Given the description of an element on the screen output the (x, y) to click on. 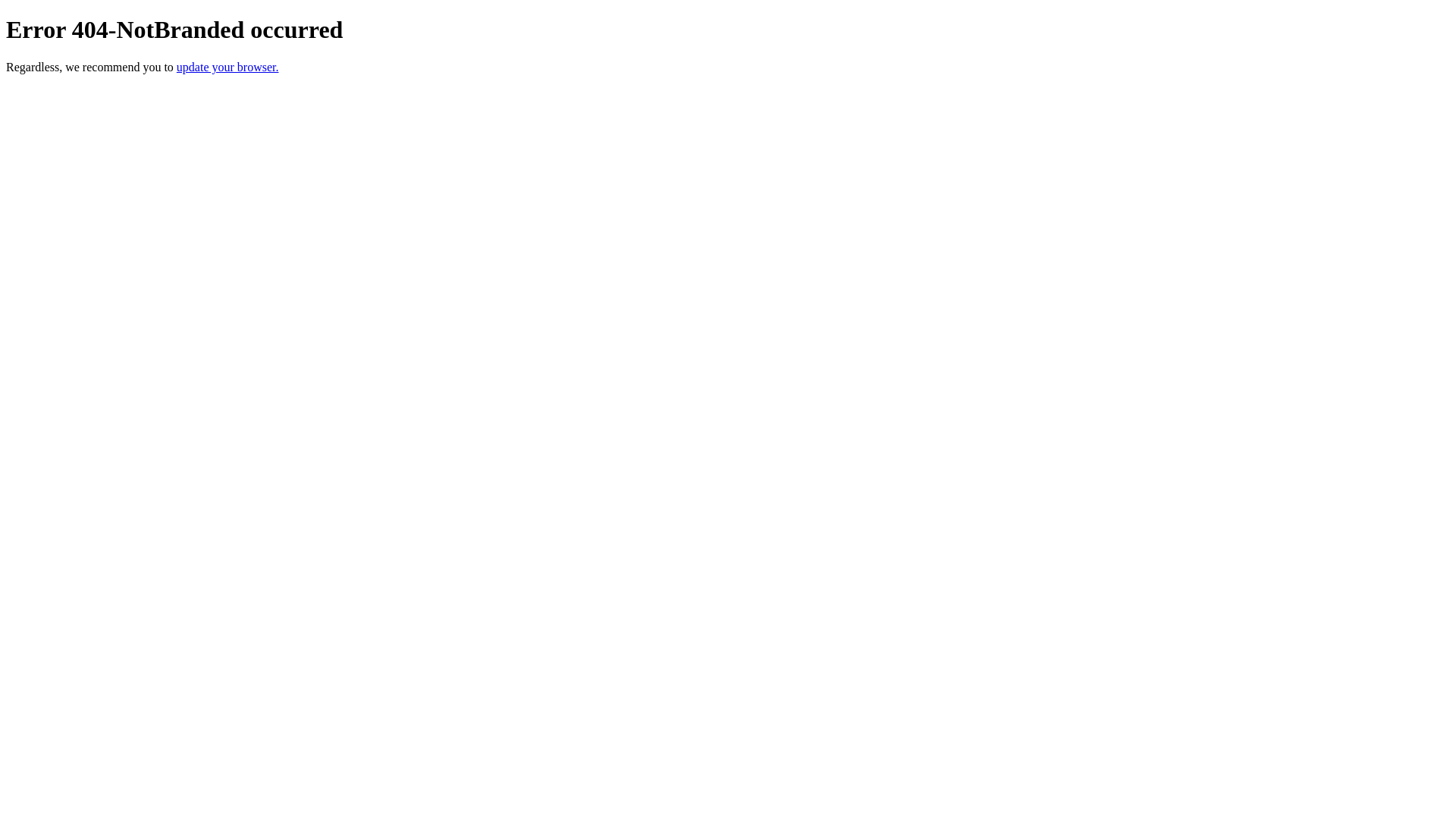
update your browser. Element type: text (227, 66)
